Given the description of an element on the screen output the (x, y) to click on. 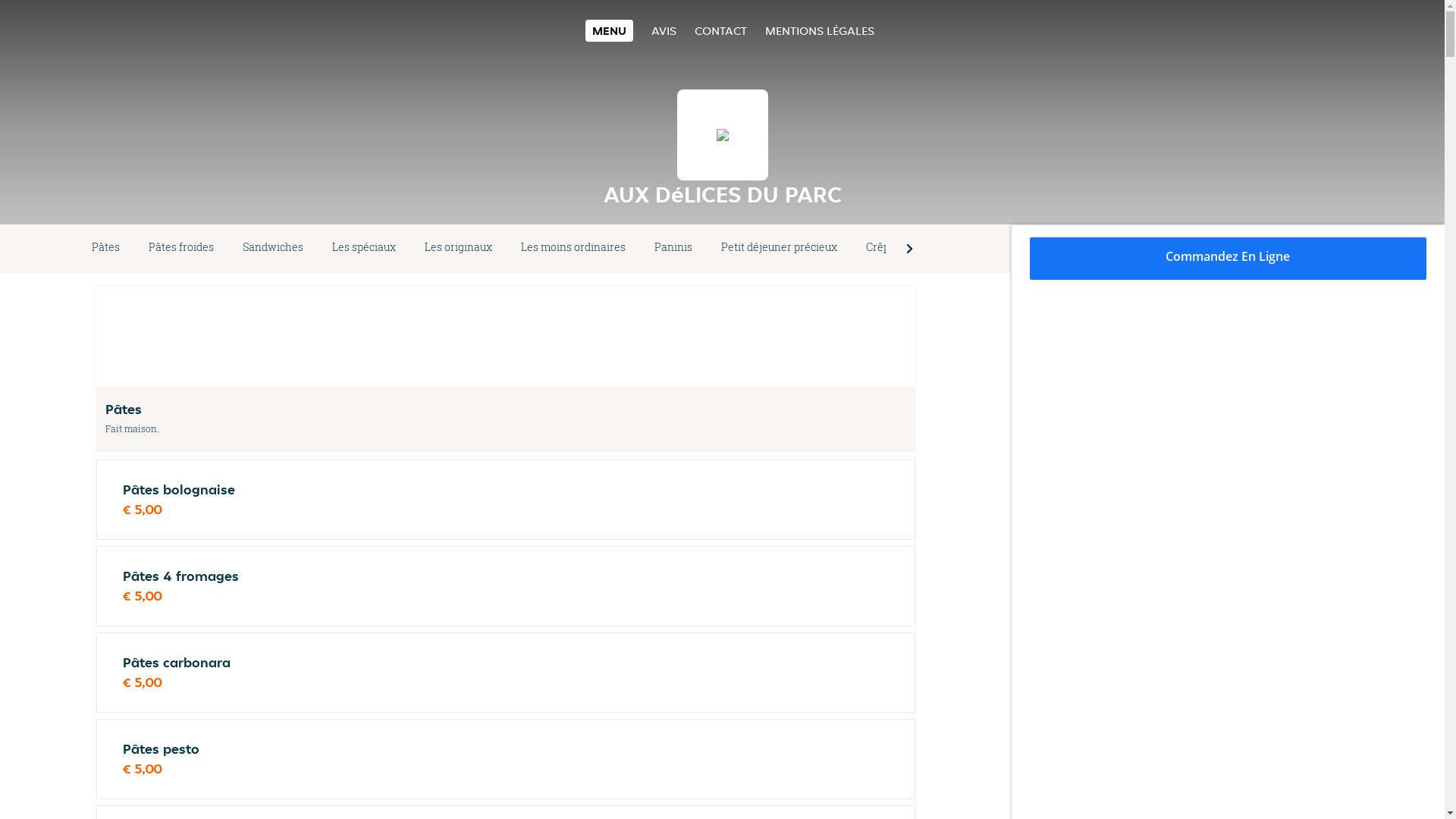
Commandez En Ligne Element type: text (1228, 258)
Sandwiches Element type: text (272, 248)
Paninis Element type: text (673, 248)
AVIS Element type: text (663, 30)
Les originaux Element type: text (458, 248)
MENU Element type: text (609, 30)
CONTACT Element type: text (720, 30)
Les moins ordinaires Element type: text (573, 248)
